Given the description of an element on the screen output the (x, y) to click on. 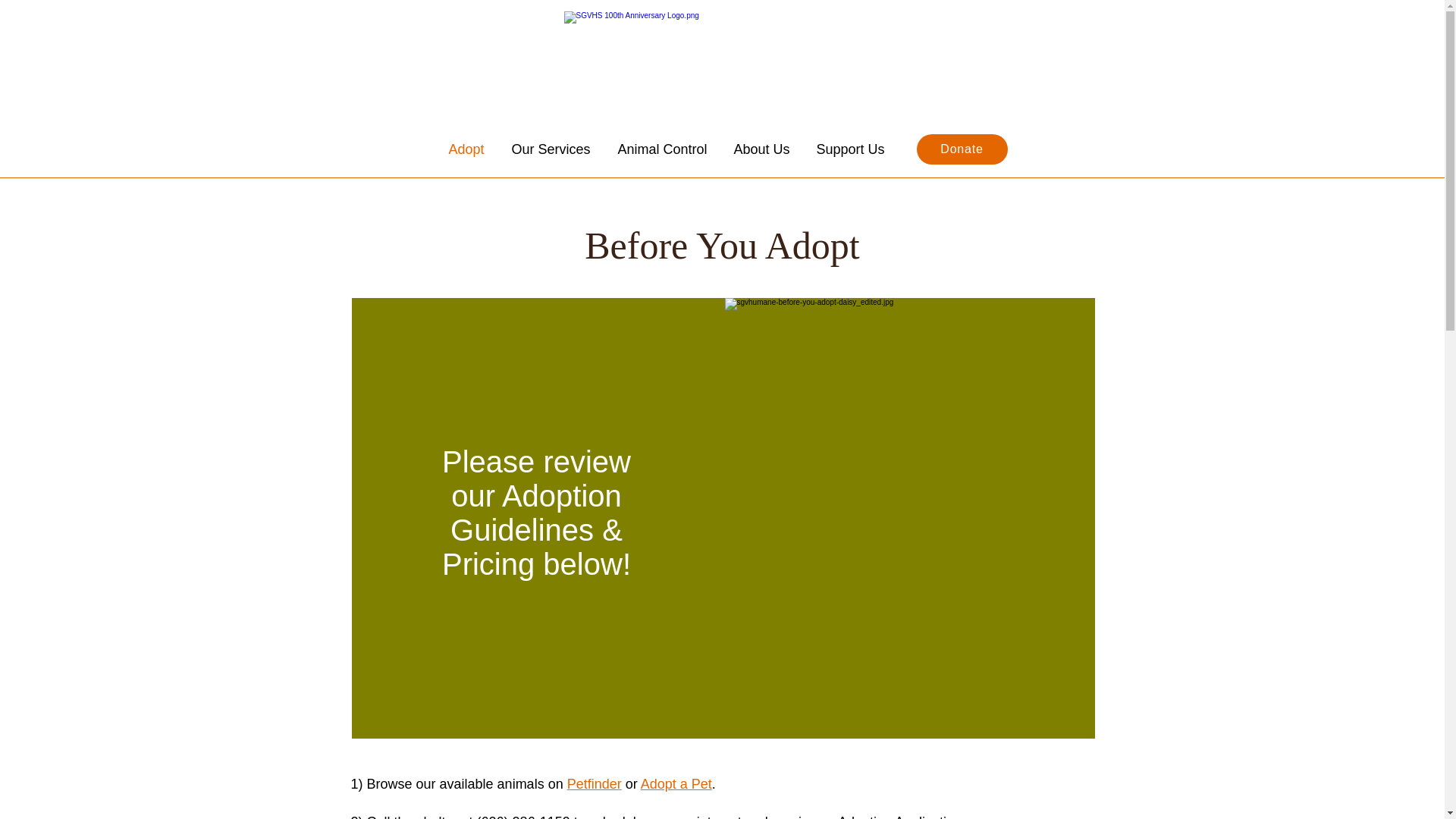
Support Us (852, 149)
Animal Control (664, 149)
Adopt (467, 149)
Donate (961, 149)
San Gabriel Valley Humane Society 2023 Logo.png (722, 68)
About Us (763, 149)
Adopt a Pet (675, 783)
Petfinder (594, 783)
Our Services (553, 149)
